Given the description of an element on the screen output the (x, y) to click on. 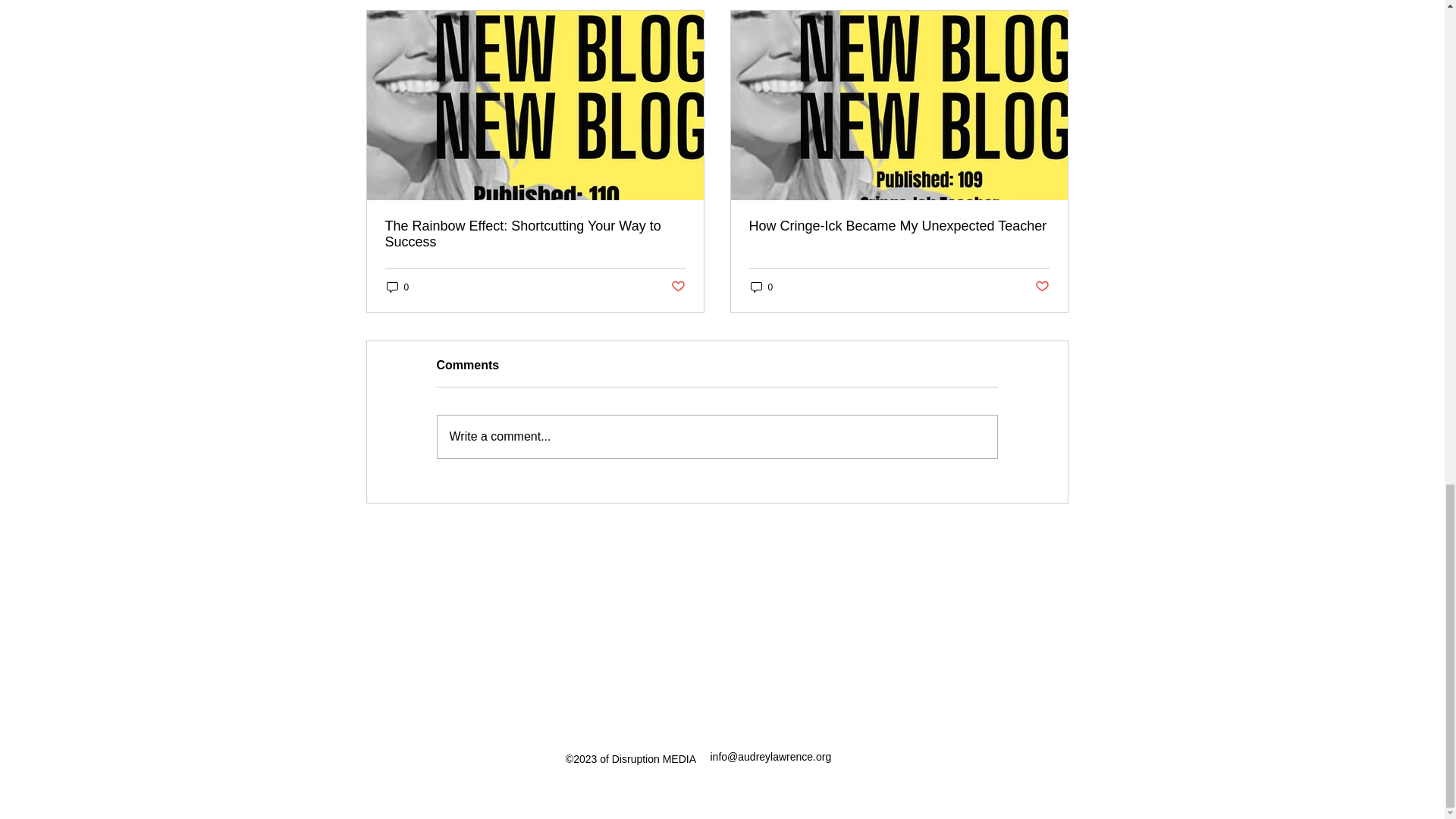
How Cringe-Ick Became My Unexpected Teacher (899, 226)
The Rainbow Effect: Shortcutting Your Way to Success (535, 234)
0 (761, 287)
Post not marked as liked (1040, 286)
Post not marked as liked (676, 286)
0 (397, 287)
